Given the description of an element on the screen output the (x, y) to click on. 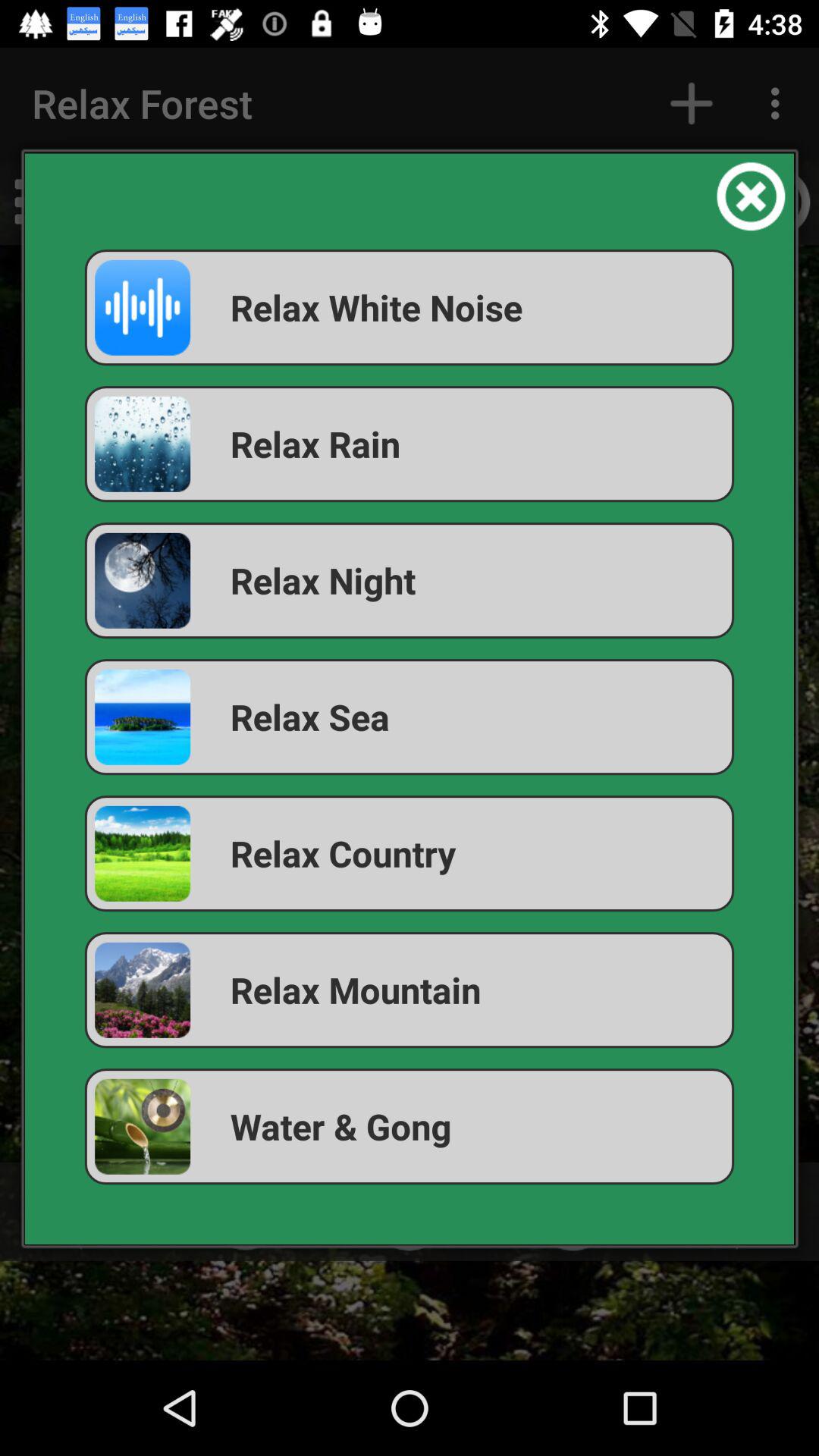
tap the item below the relax country app (409, 990)
